Given the description of an element on the screen output the (x, y) to click on. 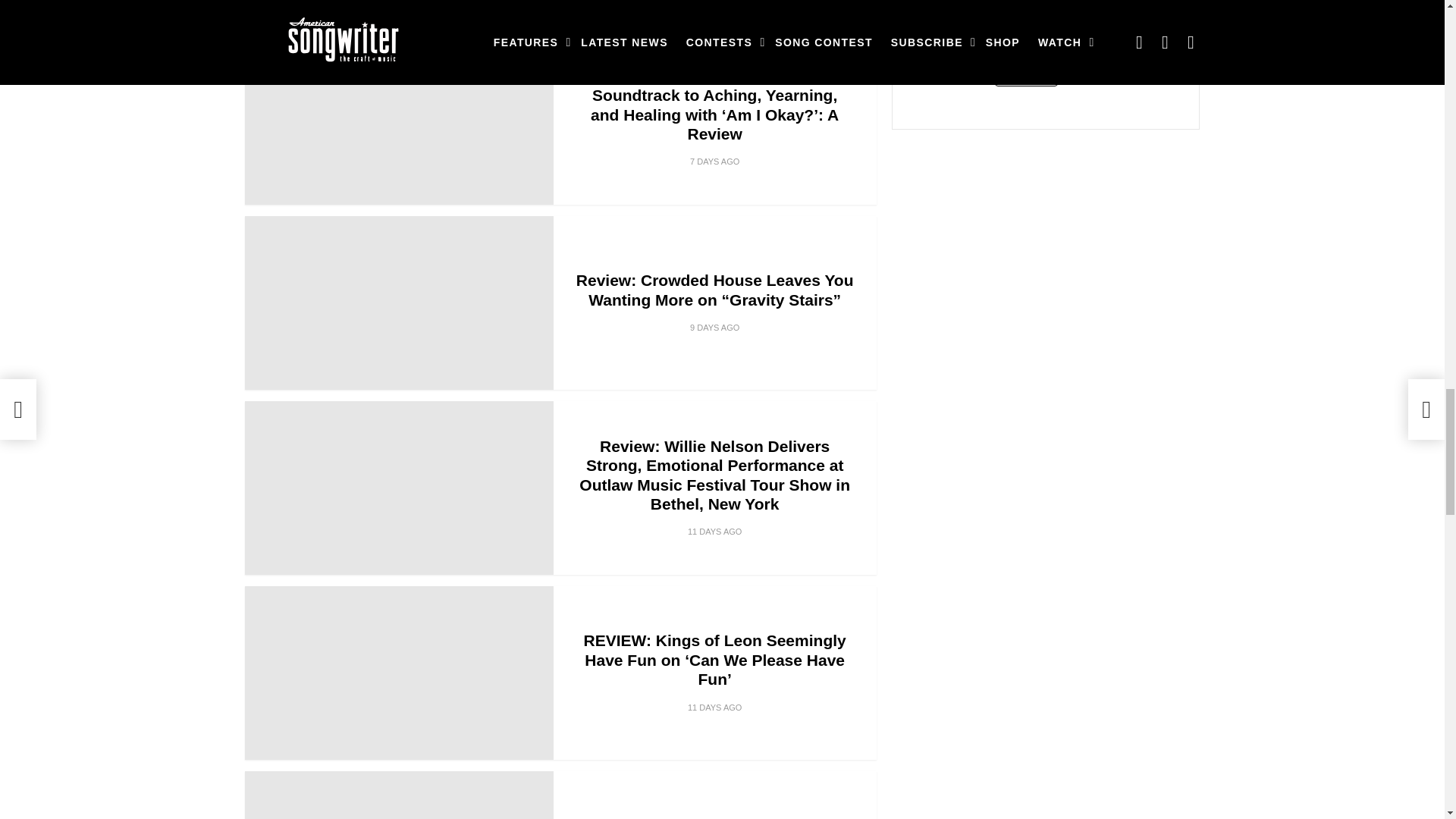
July 9, 2024, 10:34 am (714, 327)
July 11, 2024, 11:01 pm (714, 161)
July 7, 2024, 9:13 pm (714, 707)
July 8, 2024, 7:07 am (714, 531)
